Given the description of an element on the screen output the (x, y) to click on. 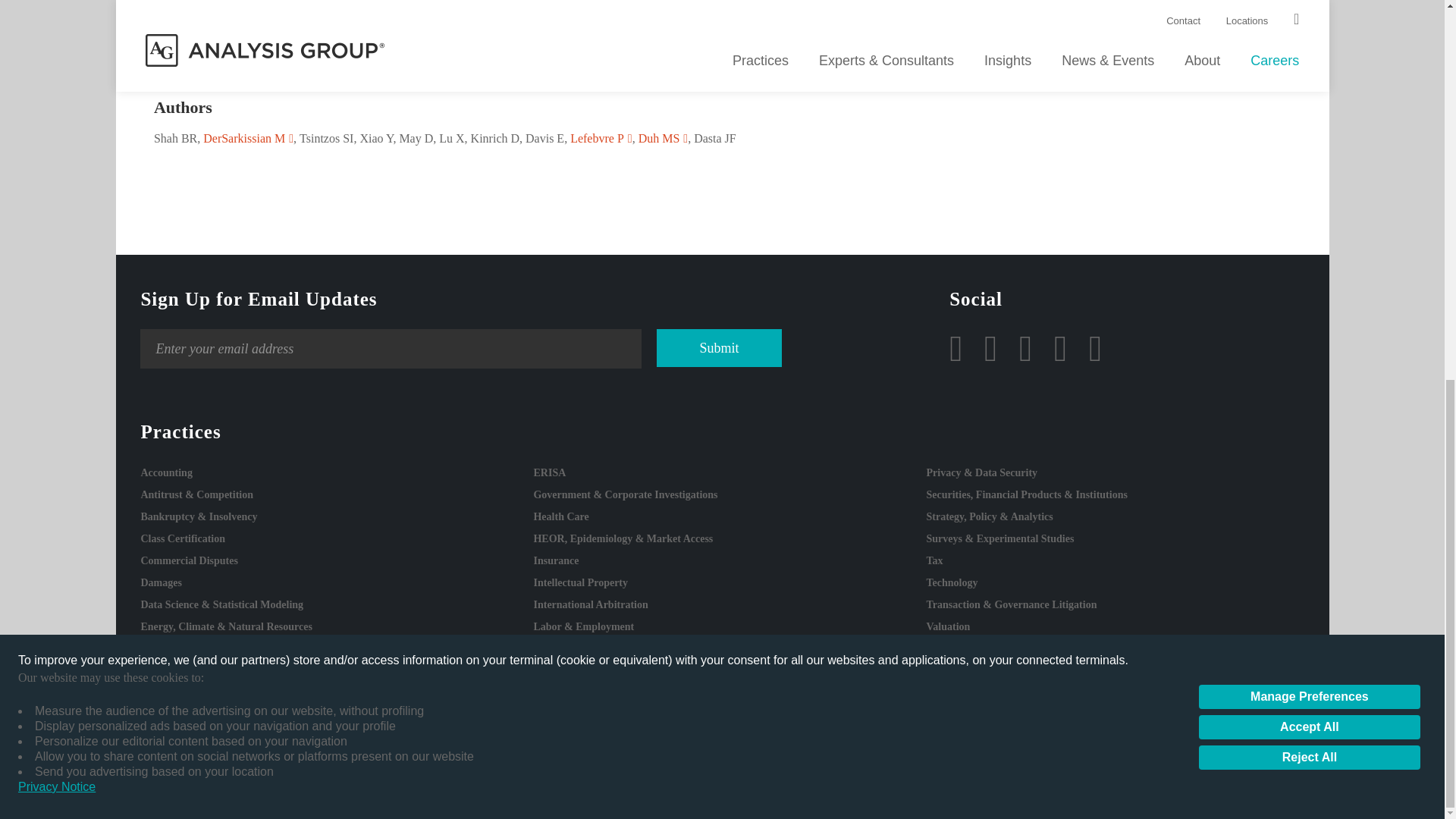
Privacy Notice (56, 80)
Accept All (1309, 21)
Reject All (1309, 51)
Manage Preferences (1309, 1)
